Given the description of an element on the screen output the (x, y) to click on. 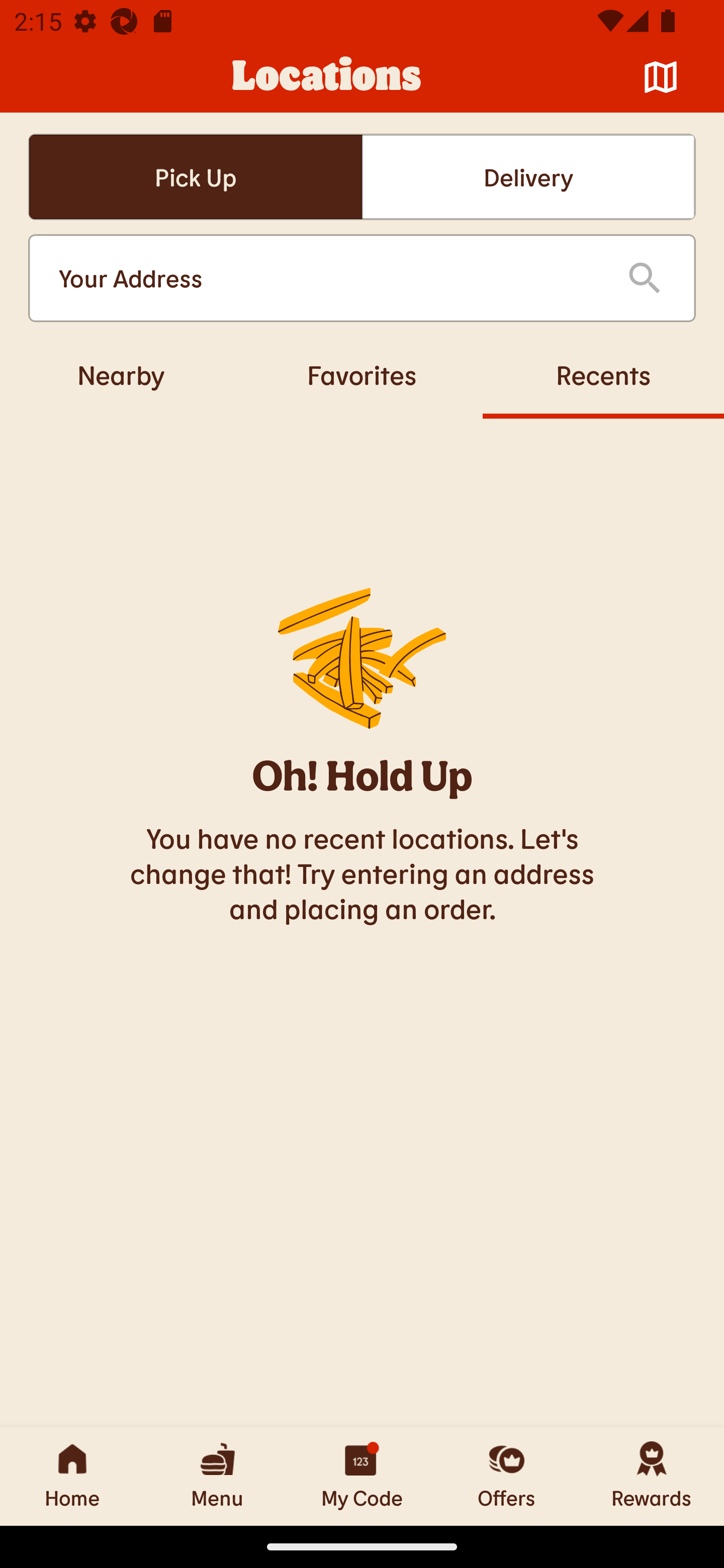
Map 󰦂 (660, 77)
Locations (326, 77)
Pick UpSelected Pick UpSelected Pick Up (195, 176)
Delivery Delivery Delivery (528, 176)
Your Address (327, 277)
Nearby (120, 374)
Favorites (361, 374)
Recents (603, 374)
Home (72, 1475)
Menu (216, 1475)
My Code (361, 1475)
Offers (506, 1475)
Rewards (651, 1475)
